Given the description of an element on the screen output the (x, y) to click on. 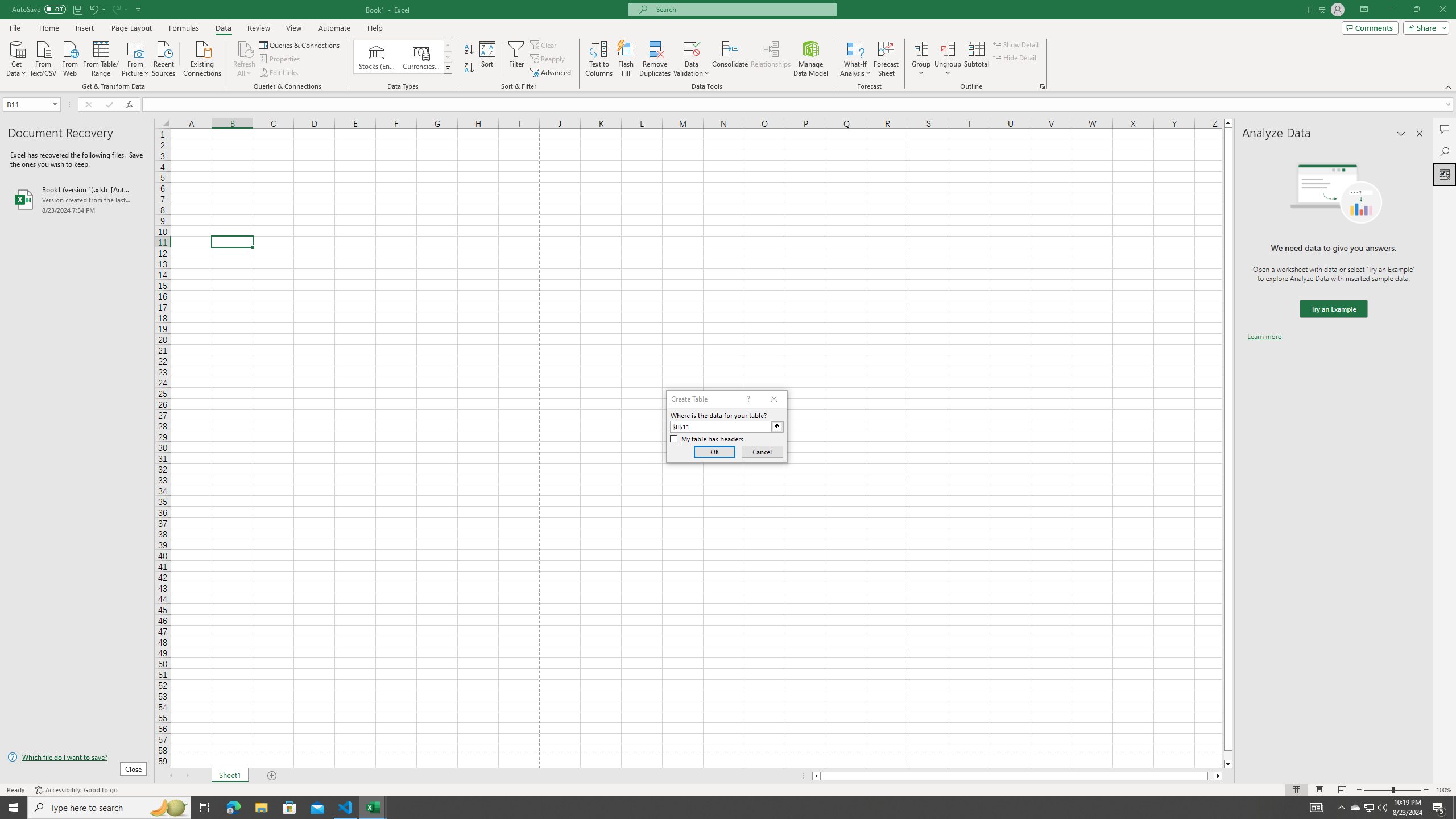
Consolidate... (729, 58)
